Given the description of an element on the screen output the (x, y) to click on. 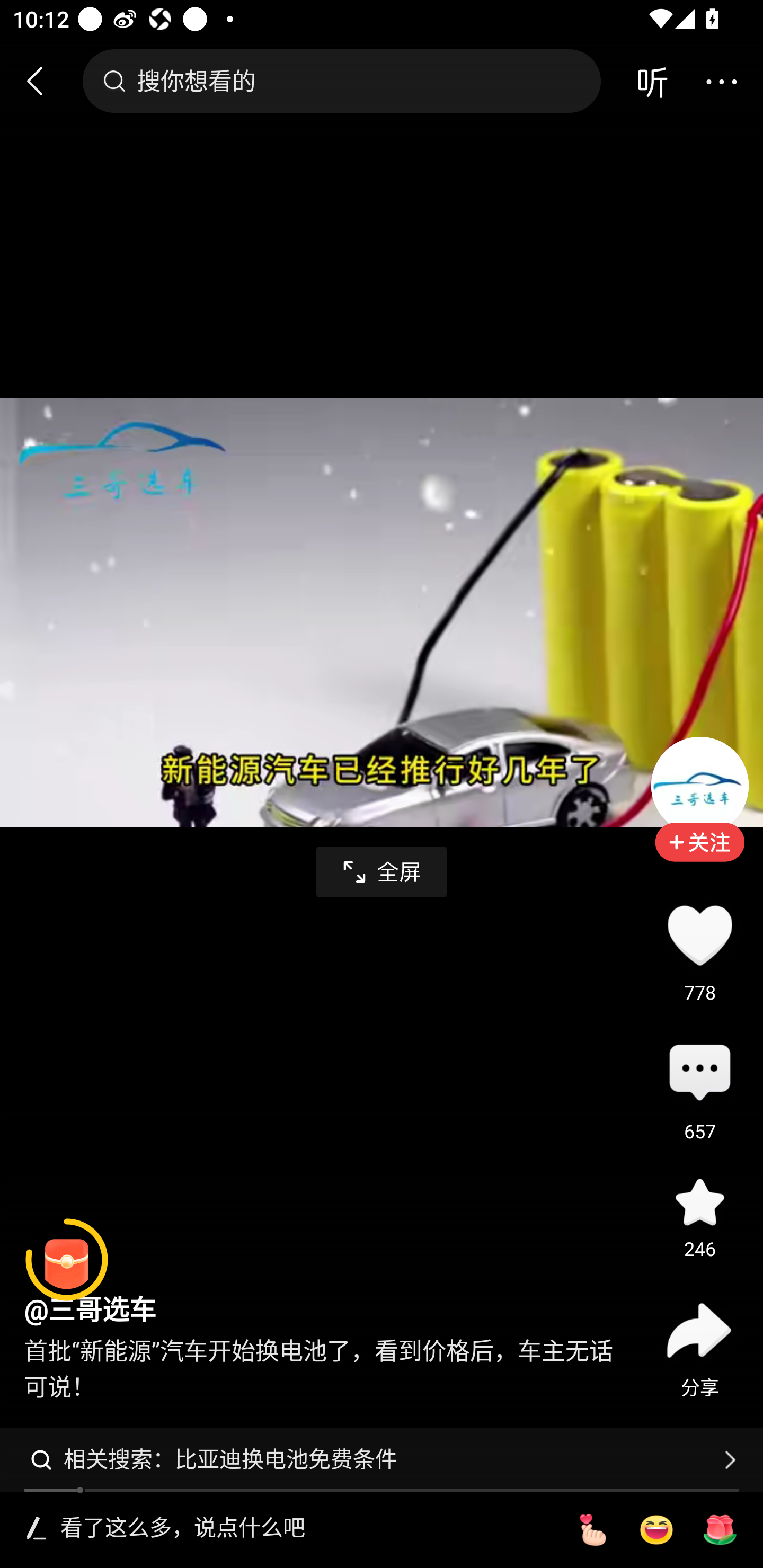
搜你想看的 搜索框，搜你想看的 (341, 80)
返回 (43, 80)
音频 (651, 80)
更多操作 (720, 80)
头像 (699, 785)
加关注 (699, 855)
全屏播放 (381, 871)
点赞778 778 (699, 935)
评论657 评论 657 (699, 1074)
收藏 246 (699, 1201)
阅读赚金币 (66, 1259)
分享 (699, 1330)
相关搜索：比亚迪换电池免费条件 (381, 1459)
看了这么多，说点什么吧 (305, 1529)
[比心] (592, 1530)
[大笑] (656, 1530)
[玫瑰] (719, 1530)
